Given the description of an element on the screen output the (x, y) to click on. 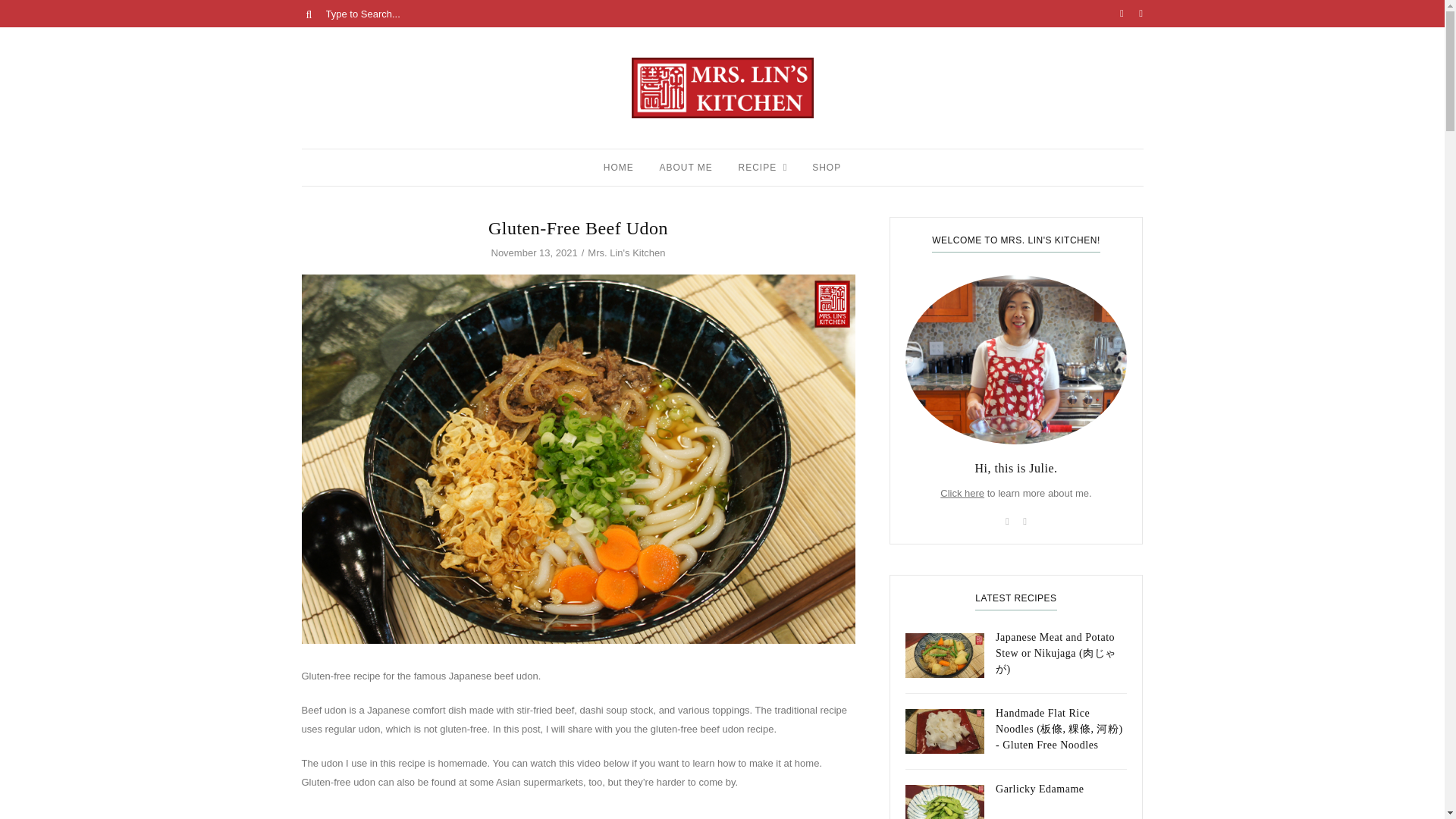
ABOUT ME (685, 167)
Click here (962, 492)
Garlicky Edamame (1015, 794)
RECIPE (757, 167)
